Given the description of an element on the screen output the (x, y) to click on. 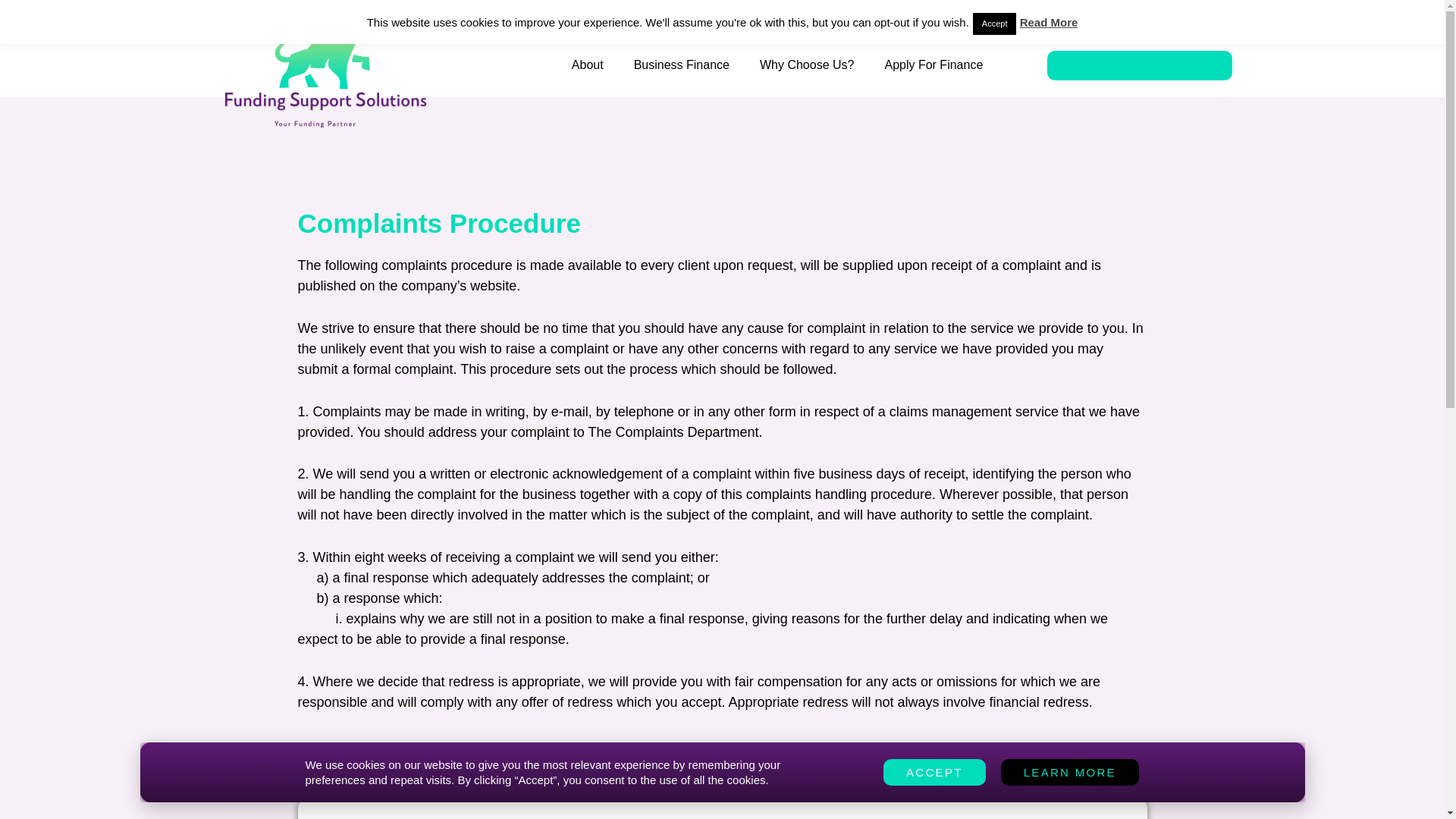
Apply For Finance (933, 64)
Business Finance (681, 64)
0800 368 7971 (878, 16)
Why Choose Us? (806, 64)
Accept (994, 24)
About (587, 64)
APPLY FOR FINANCE (1138, 65)
